Given the description of an element on the screen output the (x, y) to click on. 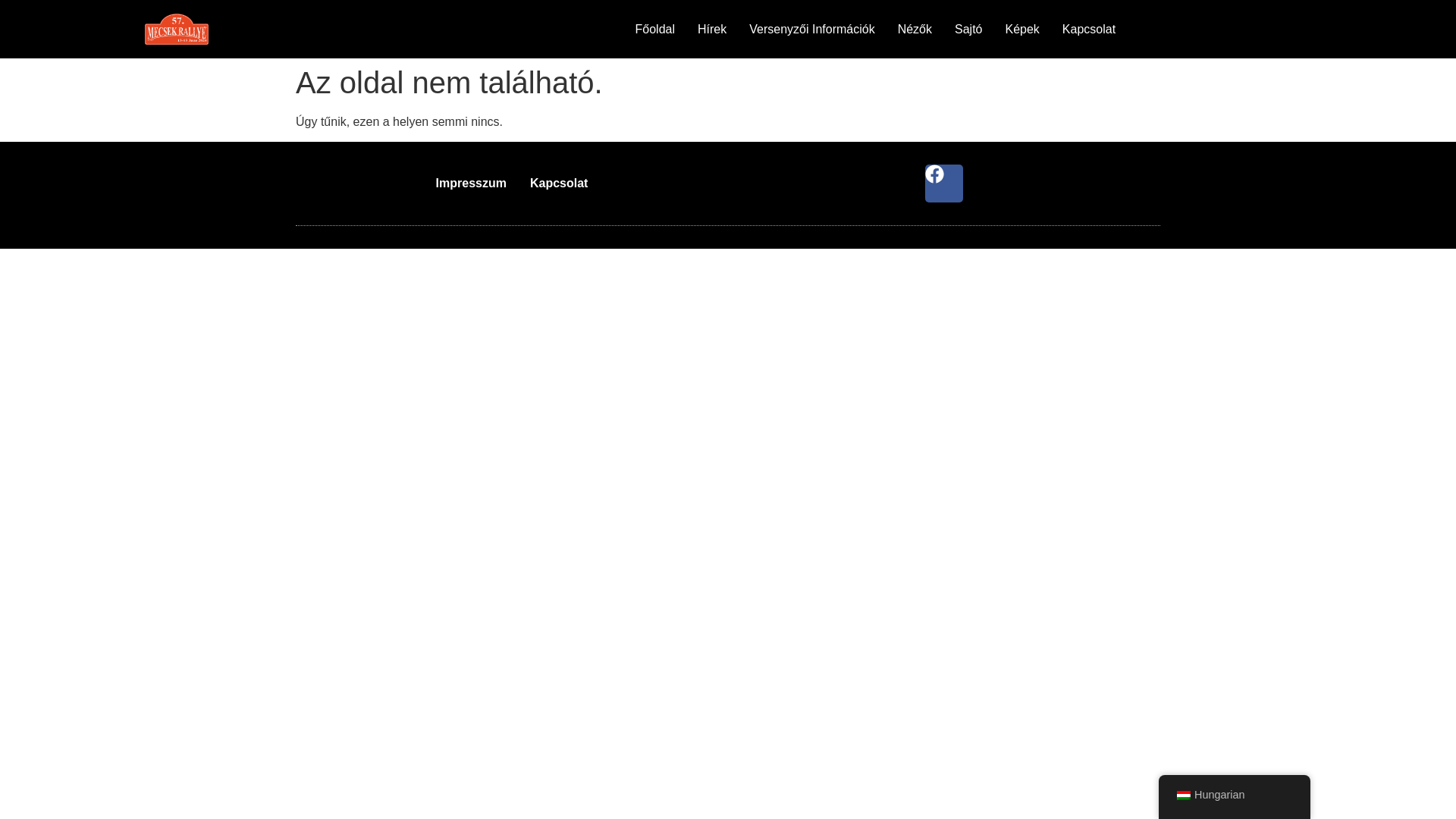
Kapcsolat (1088, 29)
